Given the description of an element on the screen output the (x, y) to click on. 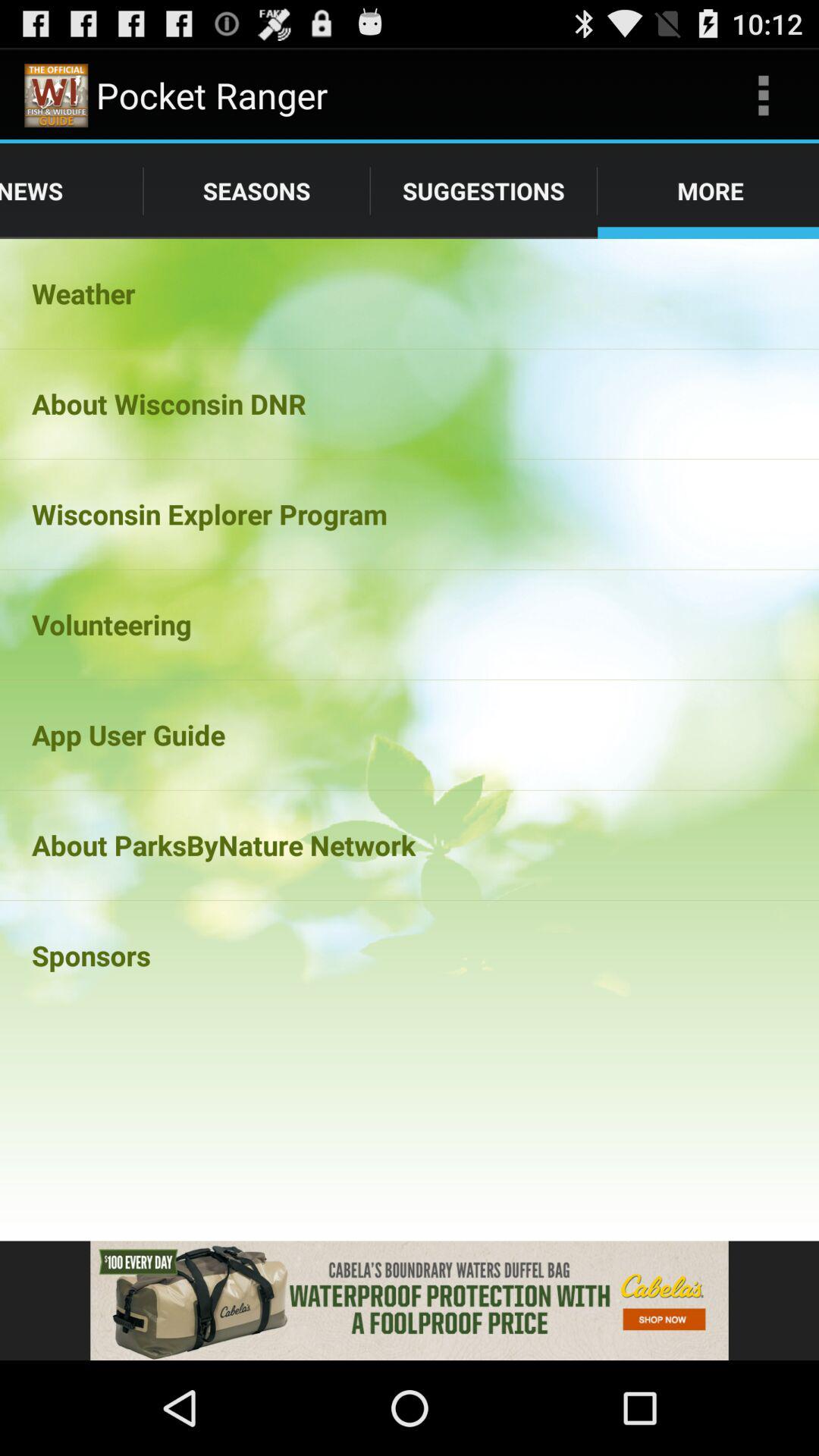
advertisement banner (409, 1300)
